Given the description of an element on the screen output the (x, y) to click on. 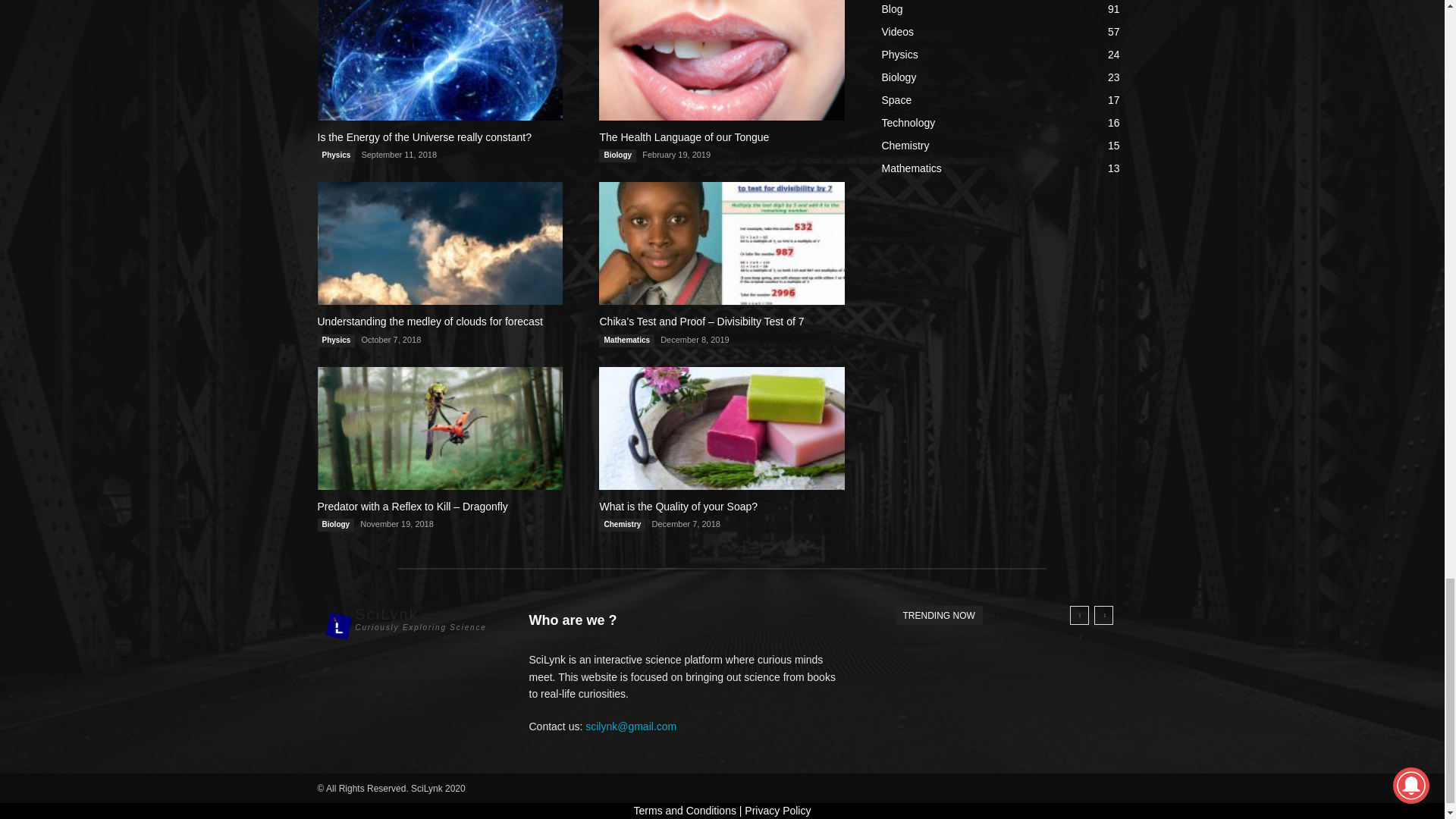
Is the Energy of the Universe really constant? (424, 136)
Understanding the medley of clouds for forecast (439, 242)
Is the Energy of the Universe really constant? (439, 60)
The Health Language of our Tongue (721, 60)
The Health Language of our Tongue (683, 136)
Understanding the medley of clouds for forecast (429, 321)
